Given the description of an element on the screen output the (x, y) to click on. 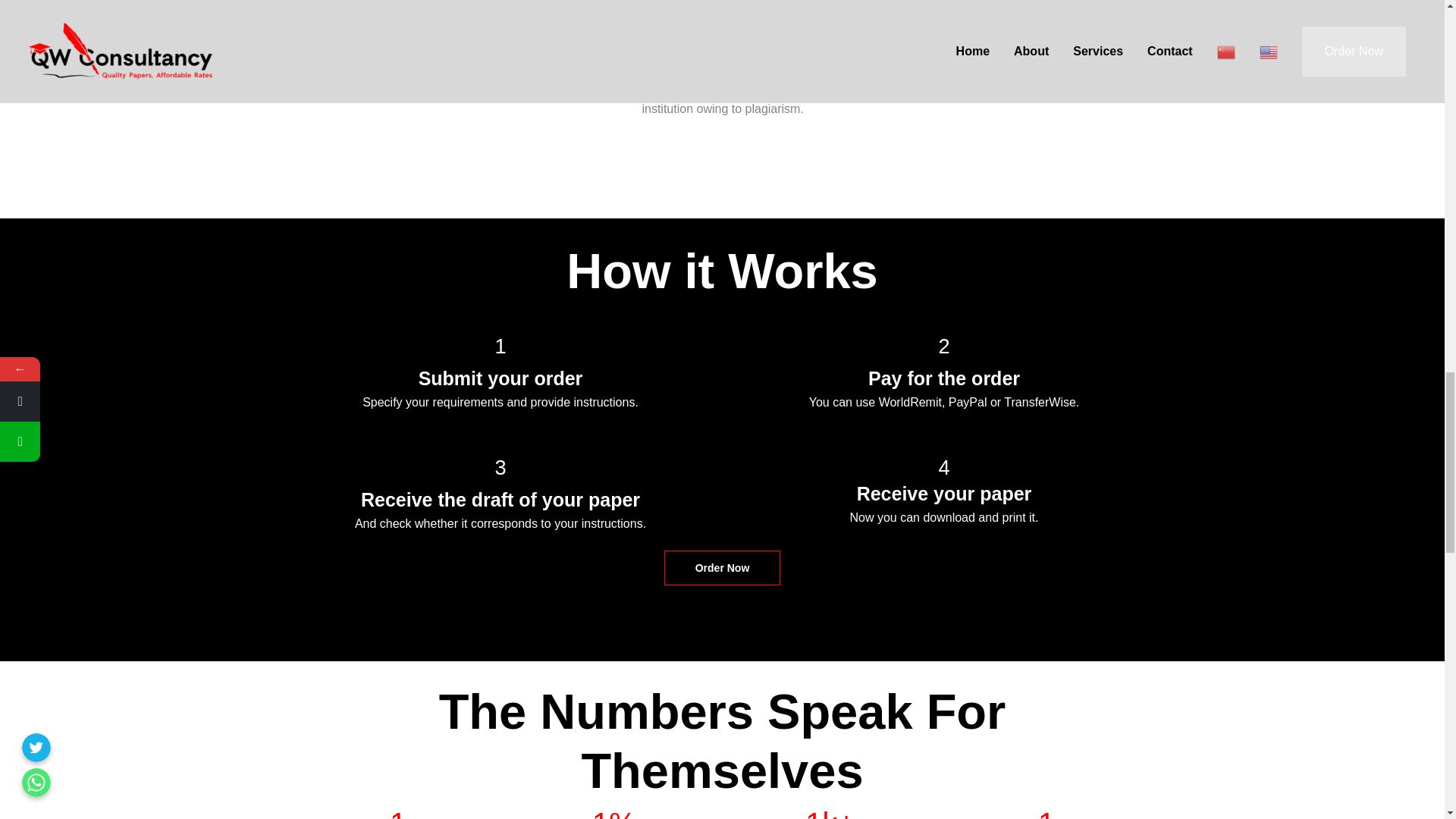
Order Now (721, 567)
